Given the description of an element on the screen output the (x, y) to click on. 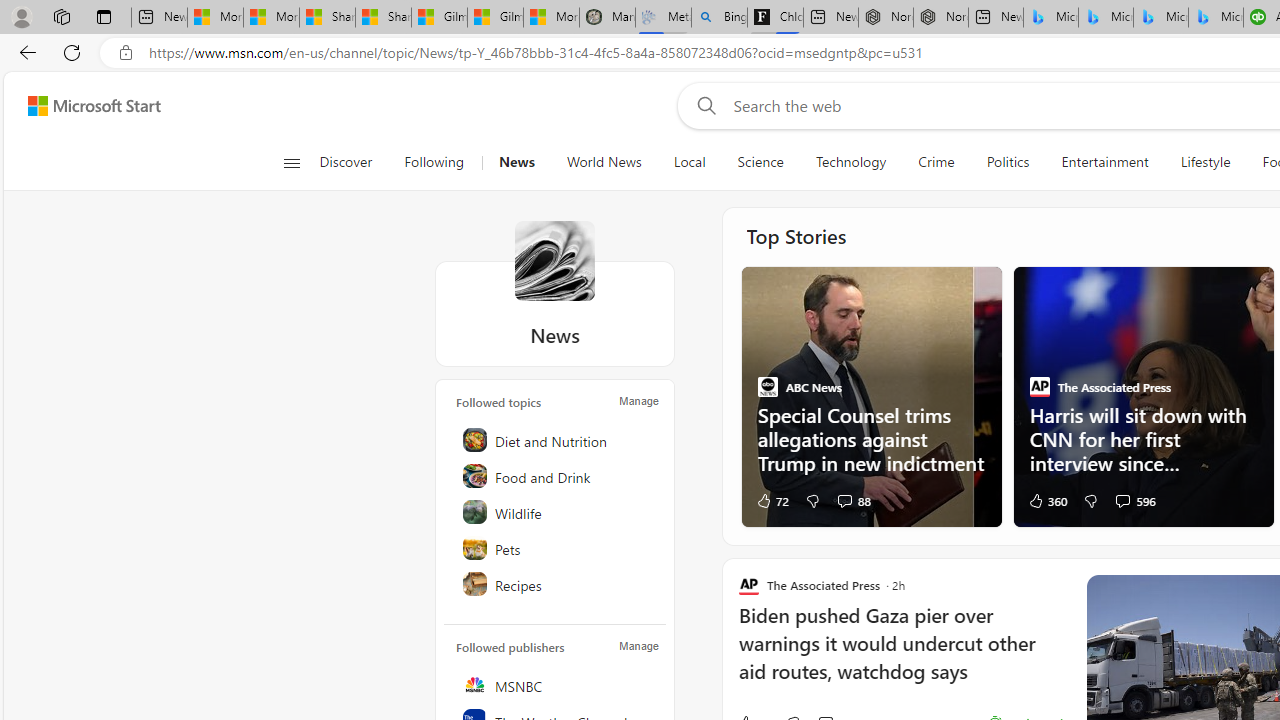
Dislike (1090, 500)
World News (603, 162)
Class: button-glyph (290, 162)
View comments 88 Comment (843, 500)
See more (1243, 296)
Crime (936, 162)
360 Like (1046, 500)
World News (603, 162)
Microsoft Bing Travel - Stays in Bangkok, Bangkok, Thailand (1105, 17)
Diet and Nutrition (556, 439)
Local (689, 162)
Bing Real Estate - Home sales and rental listings (719, 17)
